Given the description of an element on the screen output the (x, y) to click on. 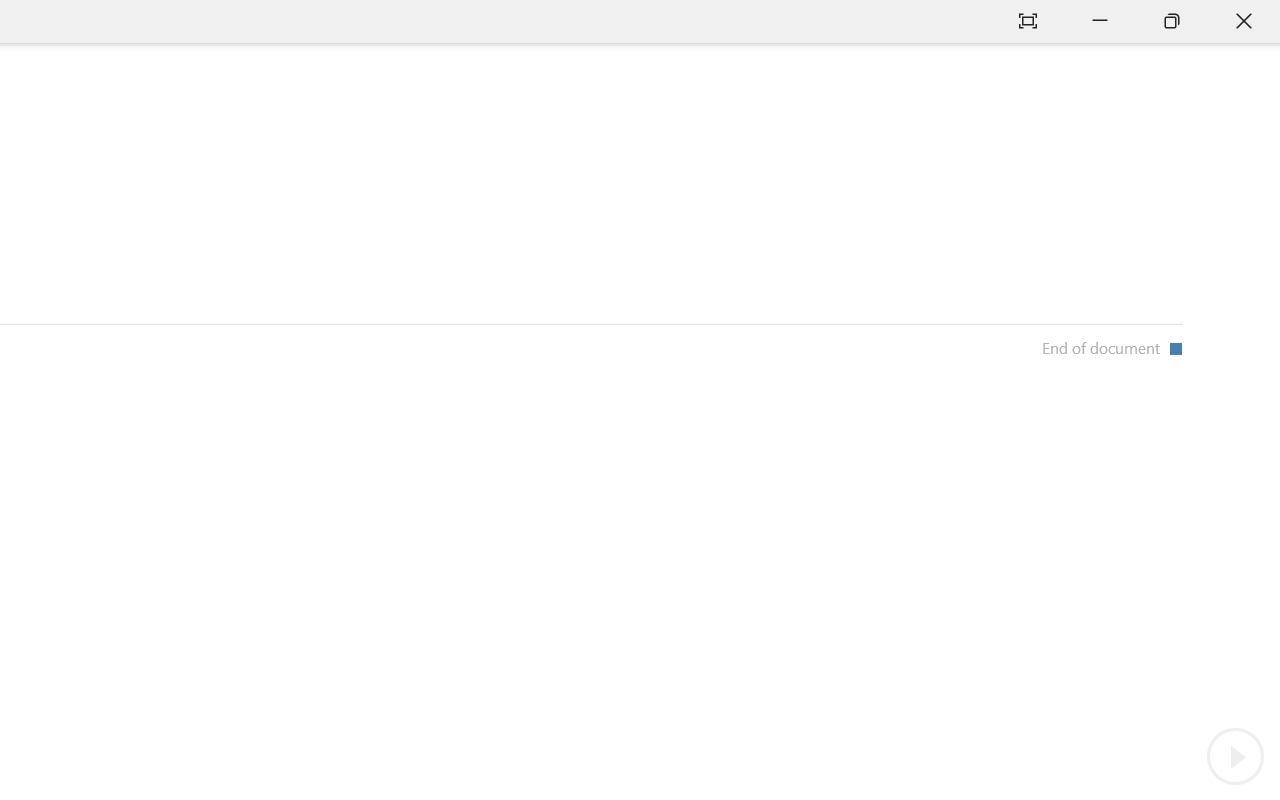
Auto-hide Reading Toolbar (1027, 21)
